Given the description of an element on the screen output the (x, y) to click on. 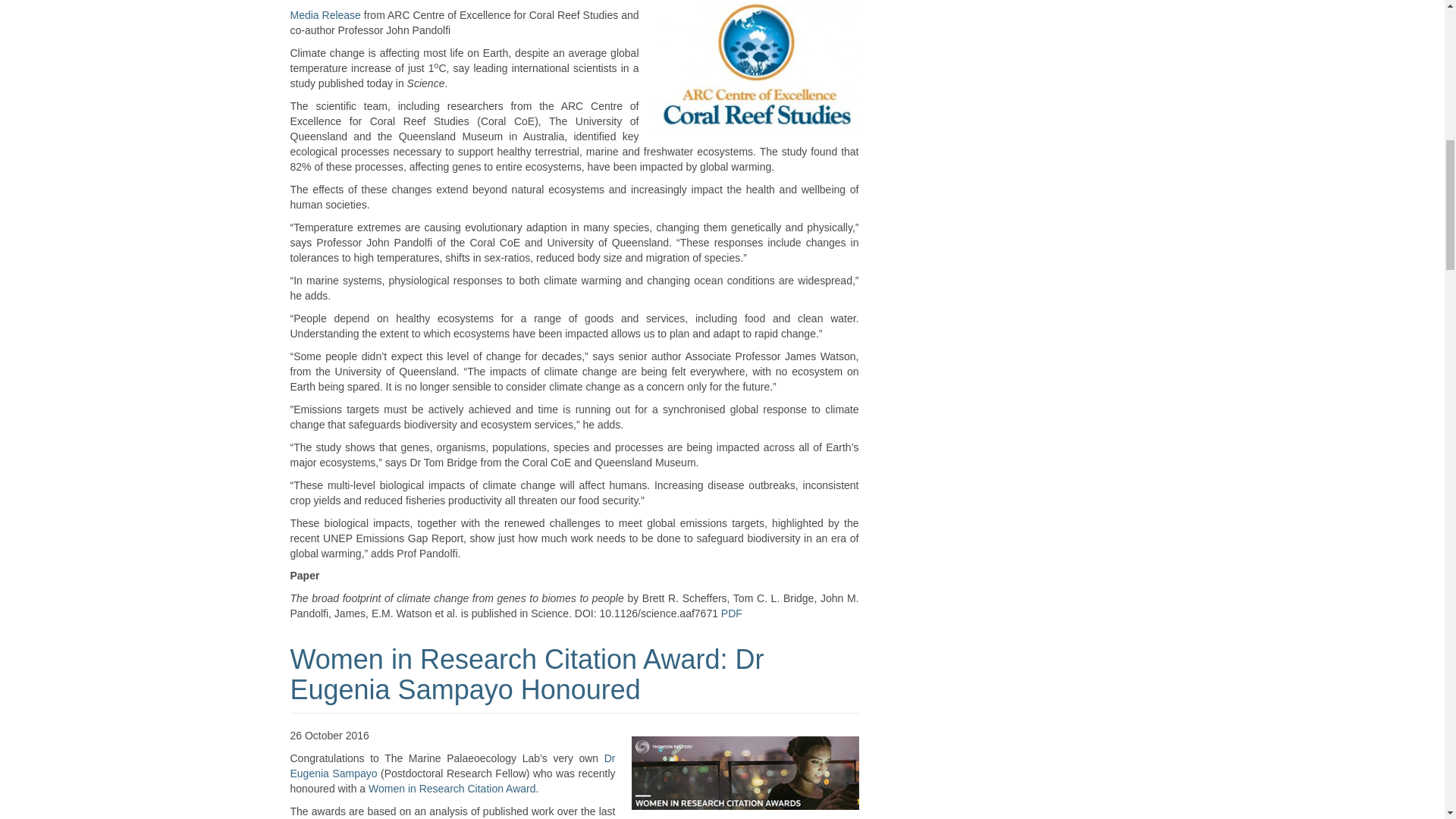
Women in Research Citation Award (451, 788)
PDF (731, 613)
Dr Eugenia Sampayo (451, 765)
Media Release (324, 15)
